Given the description of an element on the screen output the (x, y) to click on. 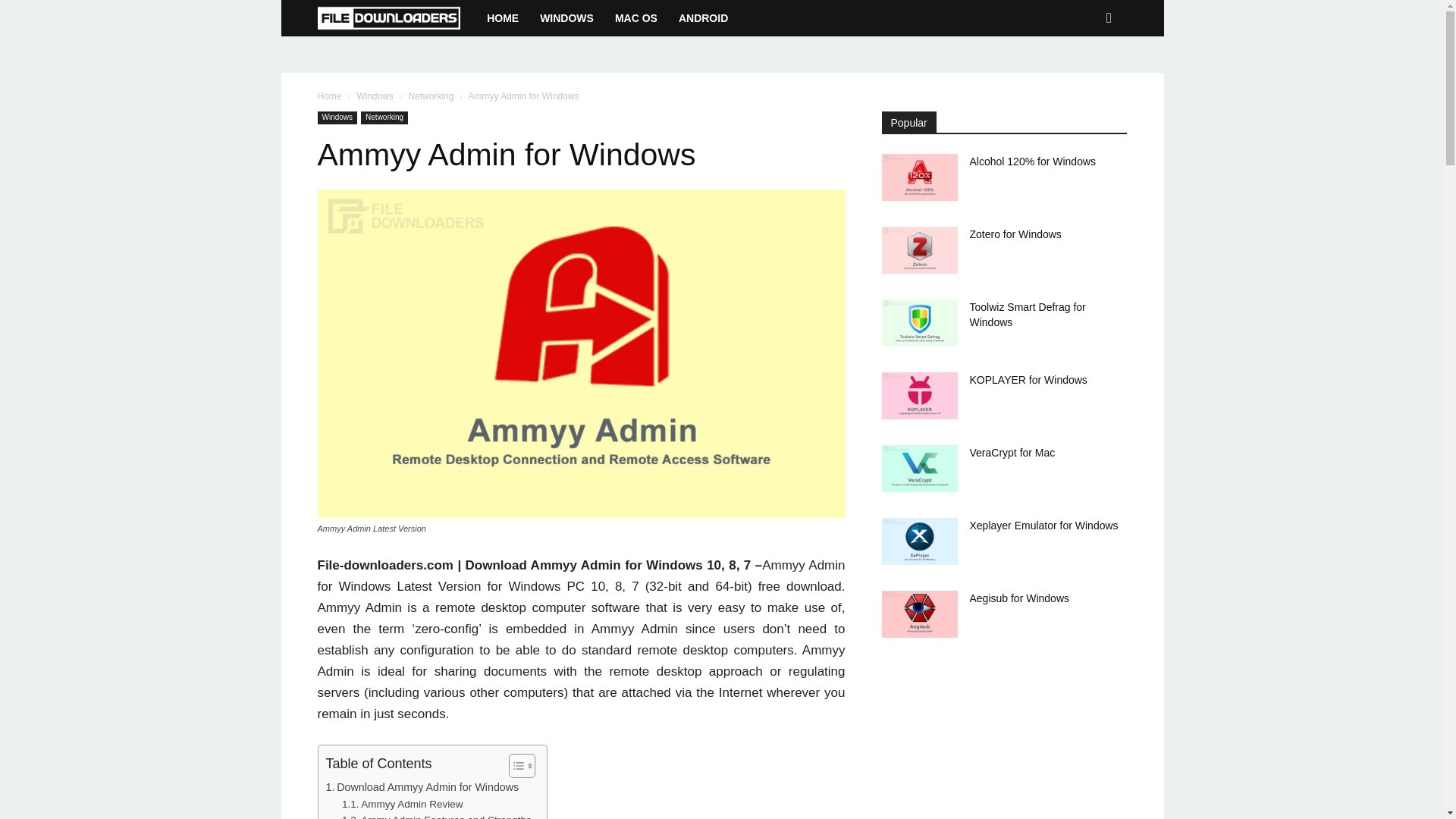
View all posts in Windows (374, 95)
View all posts in Networking (429, 95)
Networking (429, 95)
MAC OS (636, 18)
Download Ammyy Admin for Windows (422, 787)
Ammyy Admin Review (402, 804)
Networking (384, 117)
WINDOWS (566, 18)
Download Ammyy Admin for Windows (422, 787)
Windows (374, 95)
HOME (502, 18)
Search (1085, 78)
Ammyy Admin Review (402, 804)
Ammy Admin Features and Strengths (436, 815)
